Given the description of an element on the screen output the (x, y) to click on. 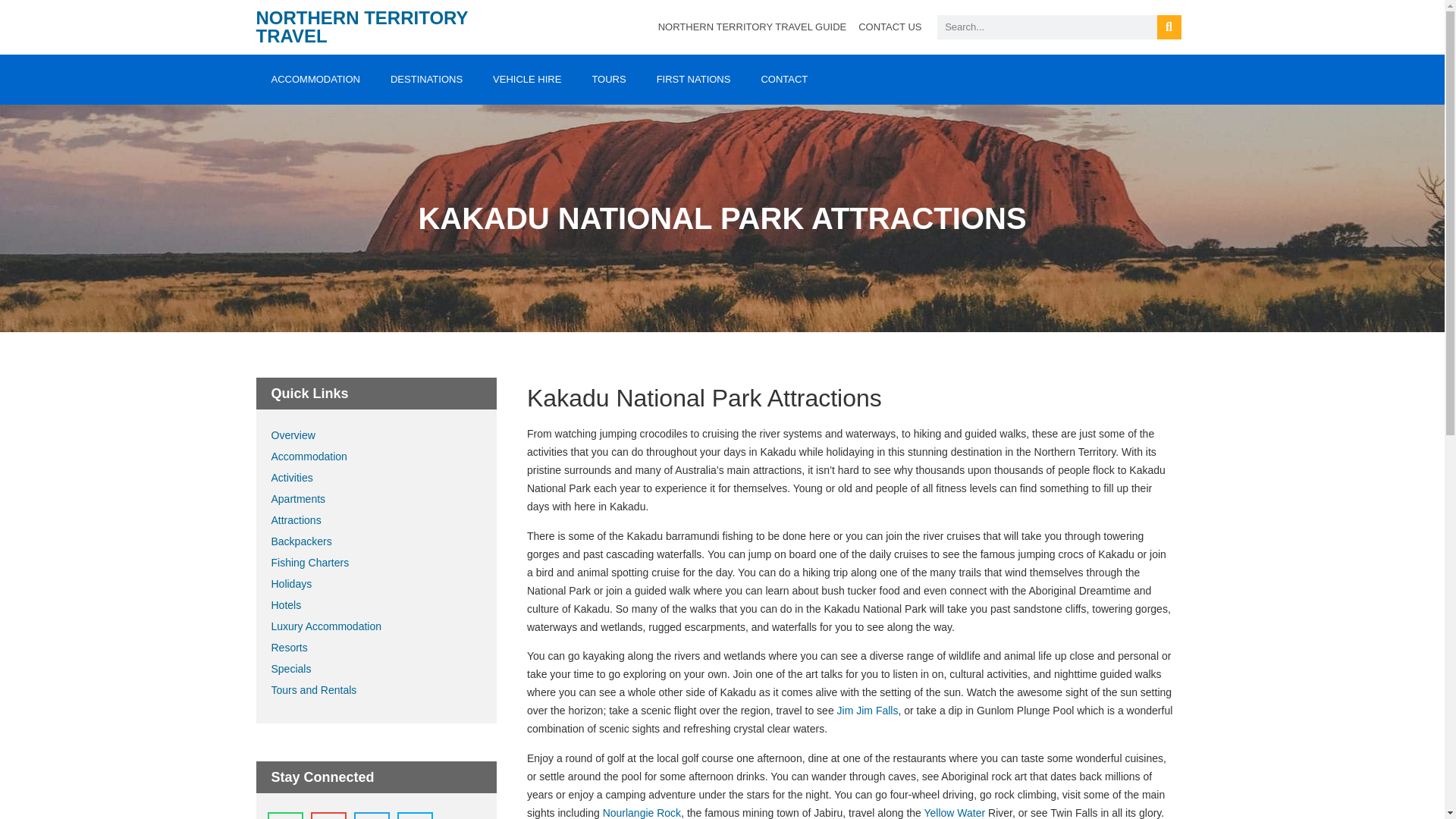
FIRST NATIONS (693, 79)
ACCOMMODATION (315, 79)
VEHICLE HIRE (526, 79)
CONTACT (783, 79)
TOURS (608, 79)
DESTINATIONS (426, 79)
NORTHERN TERRITORY TRAVEL (362, 26)
